Given the description of an element on the screen output the (x, y) to click on. 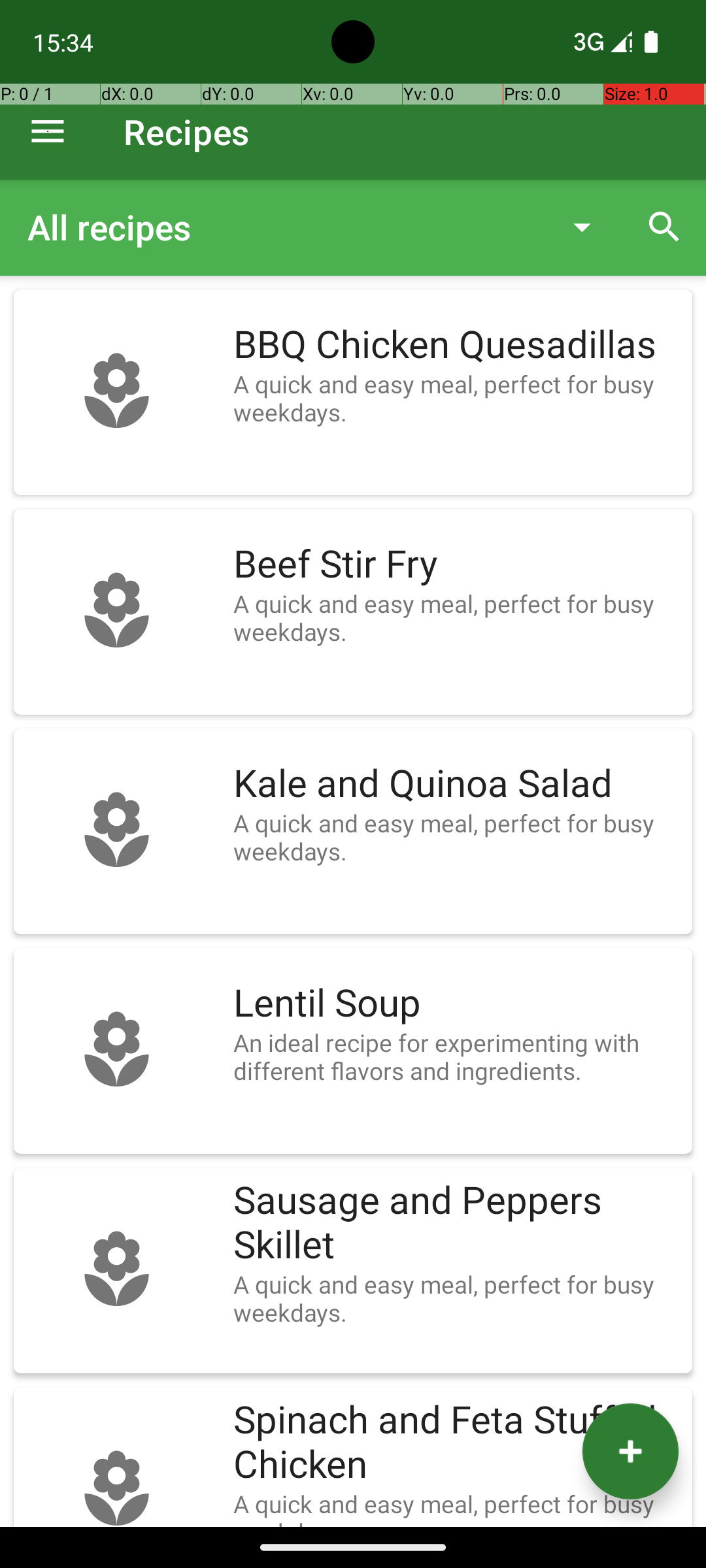
BBQ Chicken Quesadillas Element type: android.widget.TextView (455, 344)
Kale and Quinoa Salad Element type: android.widget.TextView (455, 783)
Lentil Soup Element type: android.widget.TextView (455, 1003)
Sausage and Peppers Skillet Element type: android.widget.TextView (455, 1222)
Spinach and Feta Stuffed Chicken Element type: android.widget.TextView (455, 1442)
